Given the description of an element on the screen output the (x, y) to click on. 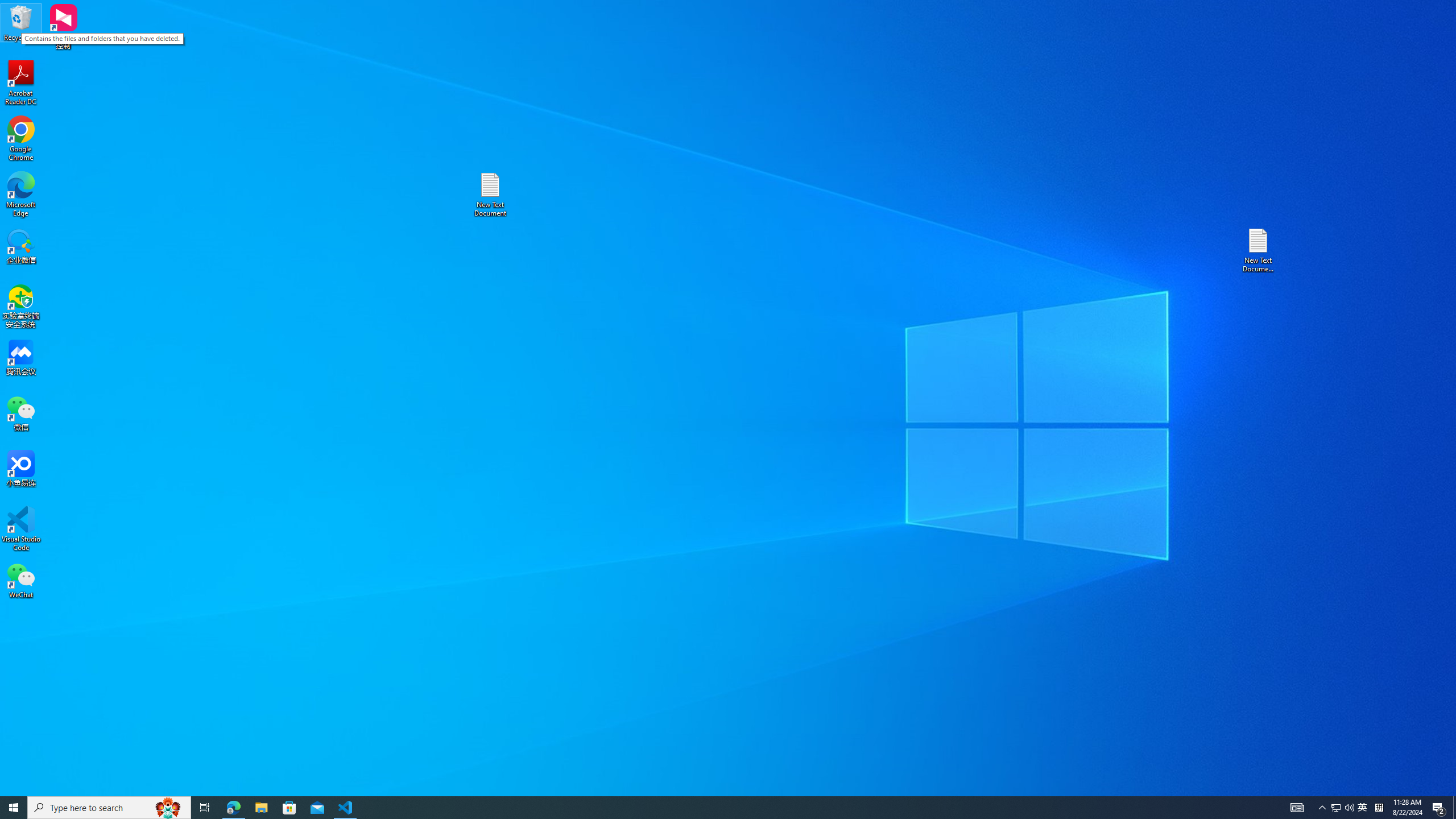
User Promoted Notification Area (1335, 807)
Visual Studio Code (1342, 807)
